Given the description of an element on the screen output the (x, y) to click on. 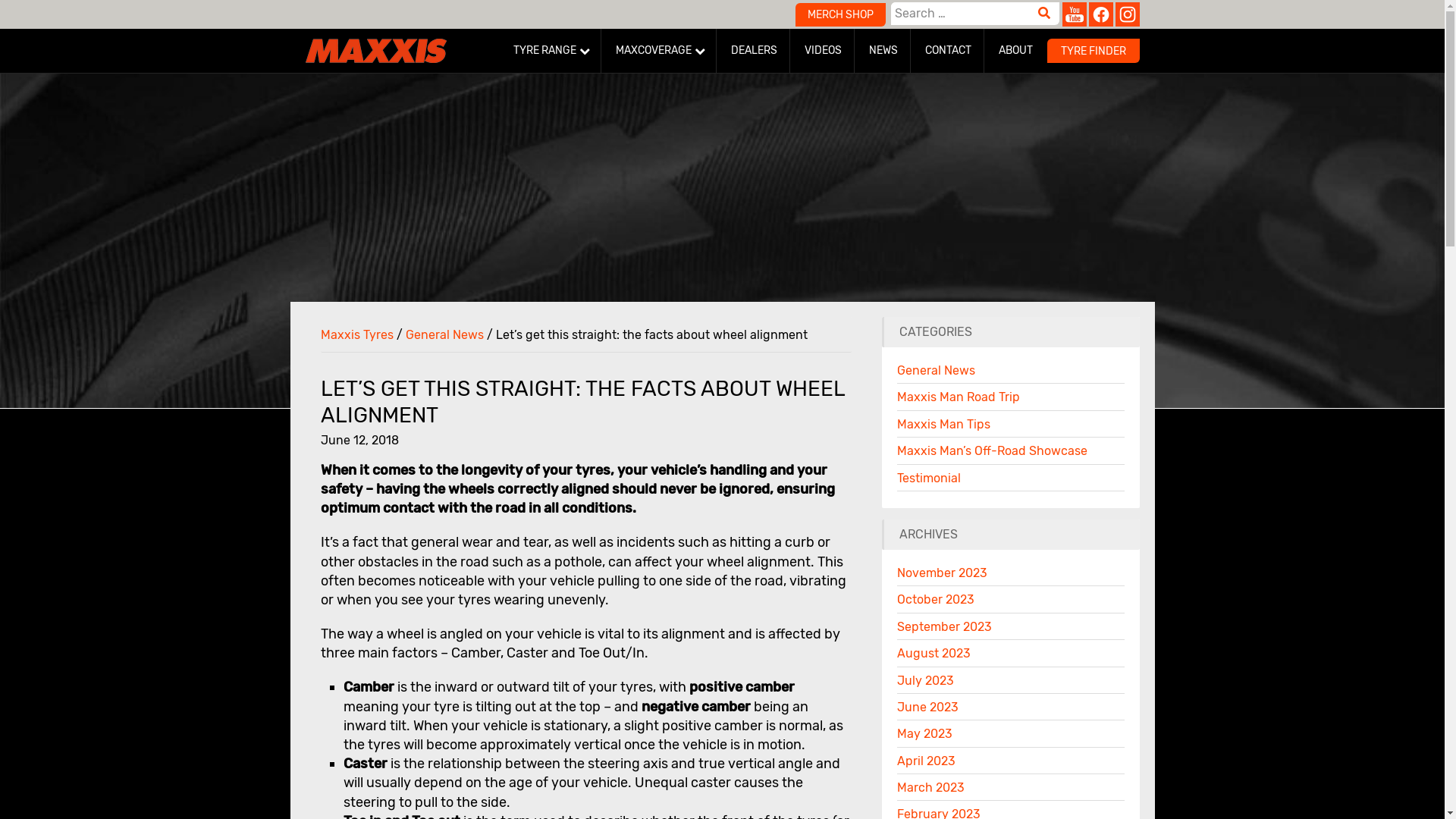
ABOUT Element type: text (1014, 50)
VIDEOS Element type: text (822, 50)
CONTACT Element type: text (948, 50)
DEALERS Element type: text (754, 50)
General News Element type: text (935, 370)
June 2023 Element type: text (926, 706)
Maxxis Tyres Australia Element type: text (374, 50)
April 2023 Element type: text (925, 760)
Testimonial Element type: text (928, 477)
May 2023 Element type: text (923, 733)
TYRE FINDER Element type: text (1092, 55)
MERCH SHOP Element type: text (839, 14)
General News Element type: text (443, 334)
October 2023 Element type: text (934, 599)
TYRE RANGE Element type: text (550, 50)
Maxxis Man Tips Element type: text (942, 424)
November 2023 Element type: text (941, 572)
Maxxis Man Road Trip Element type: text (957, 396)
August 2023 Element type: text (932, 653)
September 2023 Element type: text (943, 626)
NEWS Element type: text (883, 50)
MAXCOVERAGE Element type: text (659, 50)
March 2023 Element type: text (929, 787)
July 2023 Element type: text (924, 680)
Maxxis Tyres Element type: text (356, 334)
